Given the description of an element on the screen output the (x, y) to click on. 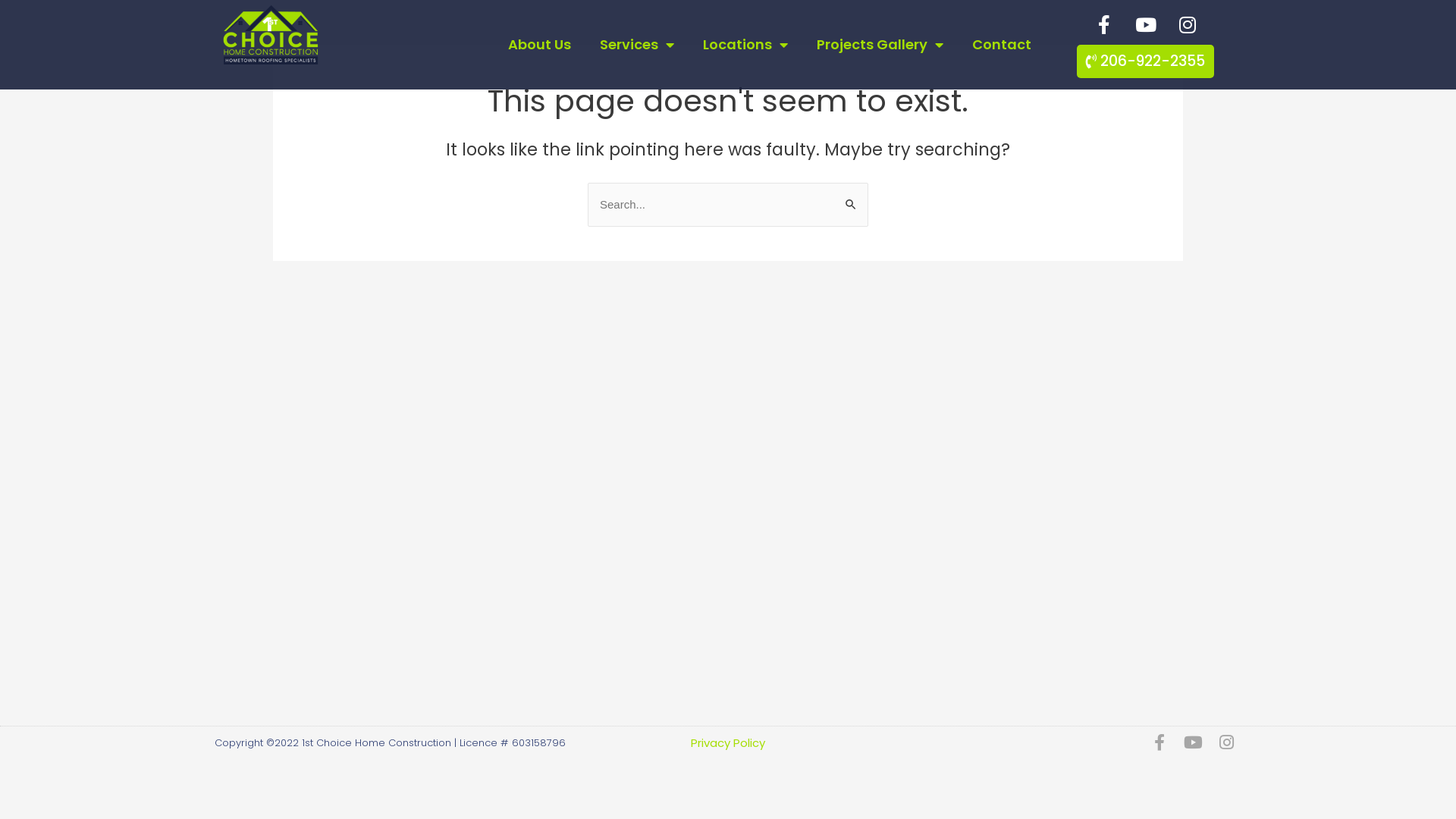
Youtube Element type: text (1145, 24)
Services Element type: text (636, 44)
Facebook-f Element type: text (1104, 24)
Locations Element type: text (745, 44)
Contact Element type: text (1001, 44)
Privacy Policy Element type: text (727, 741)
About Us Element type: text (539, 44)
Search Element type: text (851, 197)
206-922-2355 Element type: text (1145, 61)
Youtube Element type: text (1192, 742)
Projects Gallery Element type: text (879, 44)
Instagram Element type: text (1225, 742)
Facebook-f Element type: text (1159, 742)
Instagram Element type: text (1187, 24)
